Given the description of an element on the screen output the (x, y) to click on. 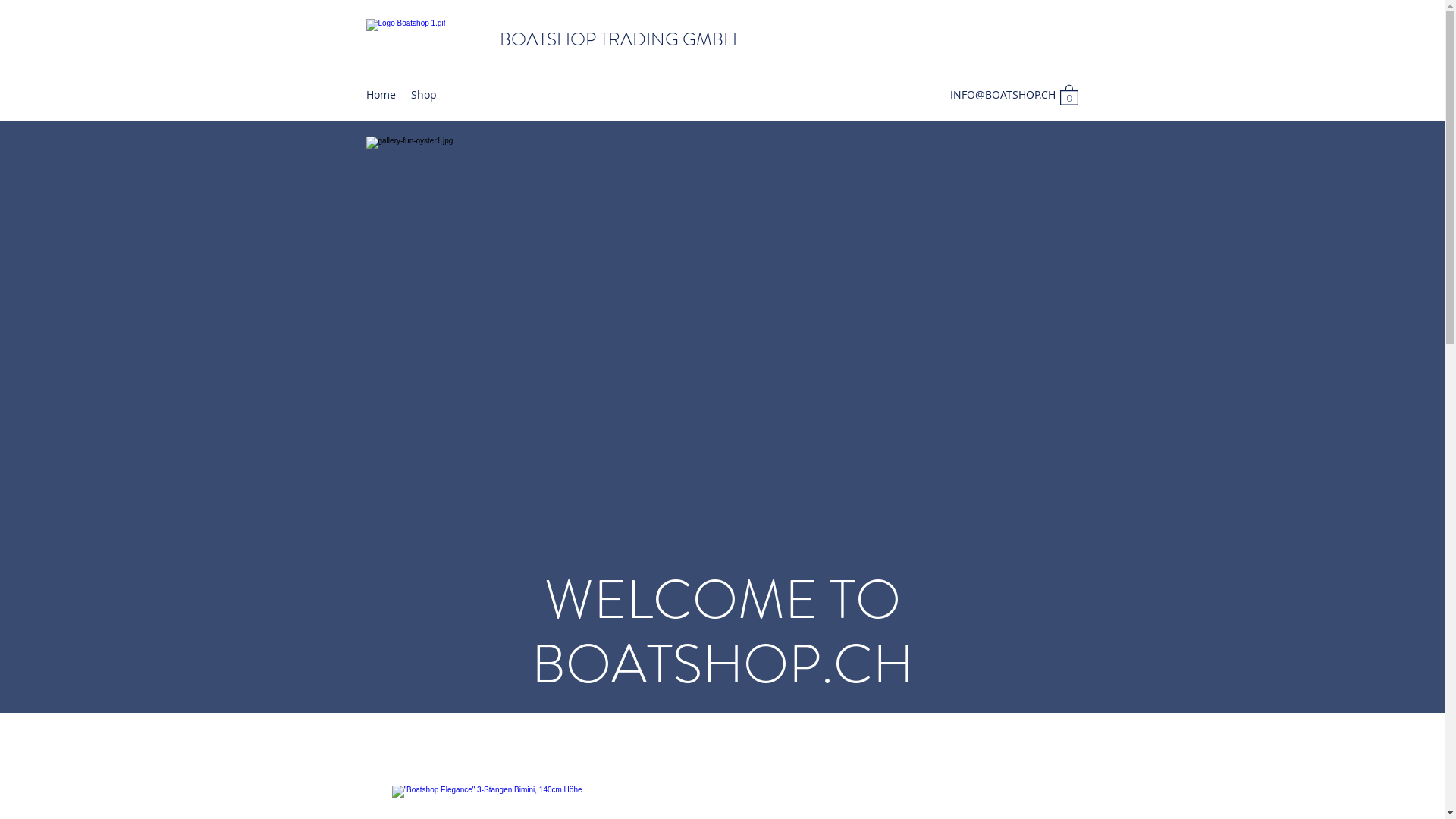
0 Element type: text (1069, 94)
Home Element type: text (379, 94)
INFO@BOATSHOP.CH Element type: text (1001, 94)
Shop Element type: text (423, 94)
